Given the description of an element on the screen output the (x, y) to click on. 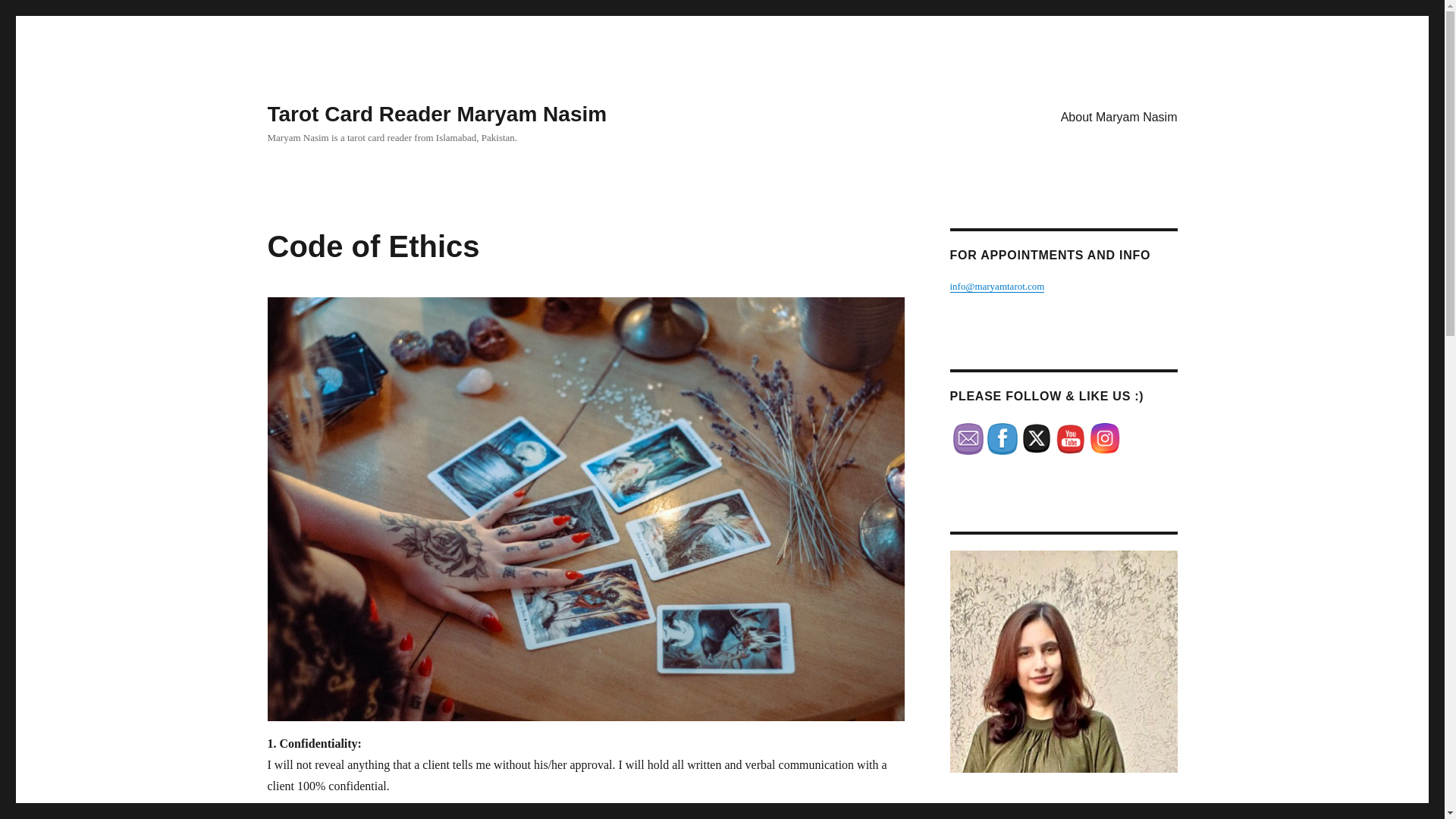
Tarot Card Reader Maryam Nasim (436, 114)
YouTube (1070, 438)
Follow by Email (967, 439)
About Maryam Nasim (1118, 116)
Twitter (1035, 438)
